Given the description of an element on the screen output the (x, y) to click on. 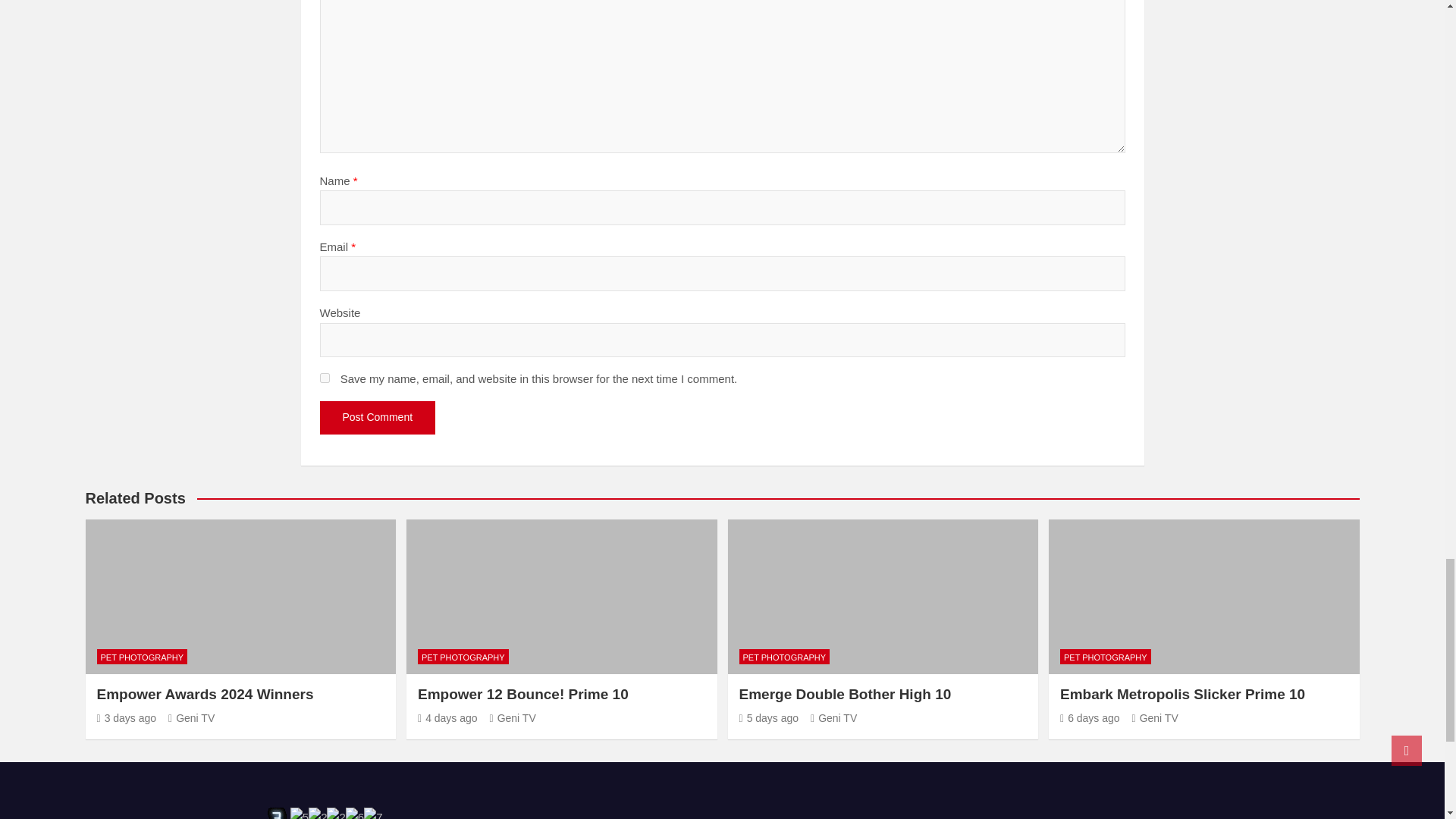
Empower Awards 2024 Winners (127, 717)
Post Comment (377, 417)
Emerge Double Bother High 10 (767, 717)
Empower 12 Bounce! Prime 10 (447, 717)
yes (325, 378)
Embark Metropolis Slicker Prime 10 (1089, 717)
